Given the description of an element on the screen output the (x, y) to click on. 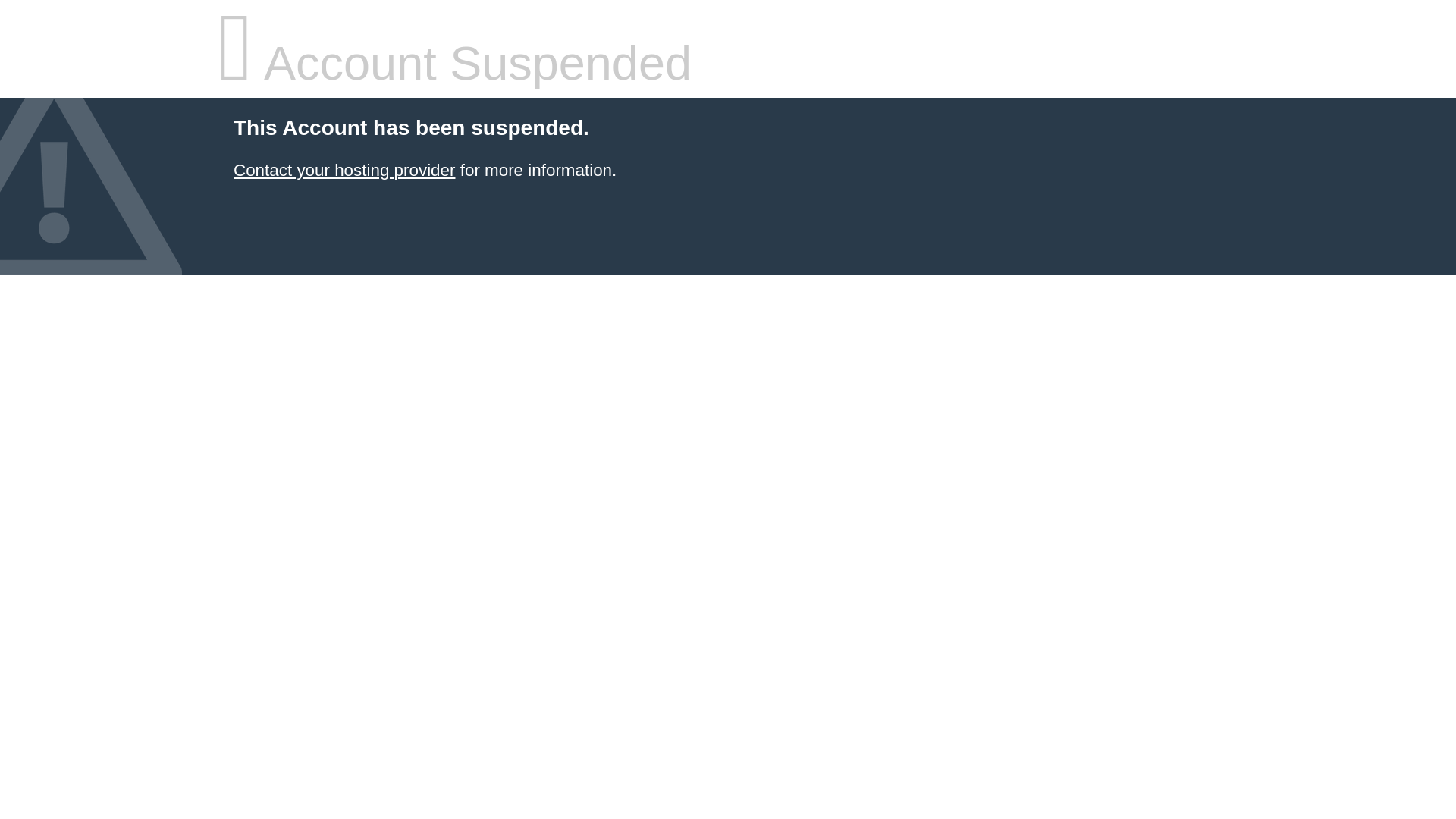
Contact your hosting provider (343, 169)
